Given the description of an element on the screen output the (x, y) to click on. 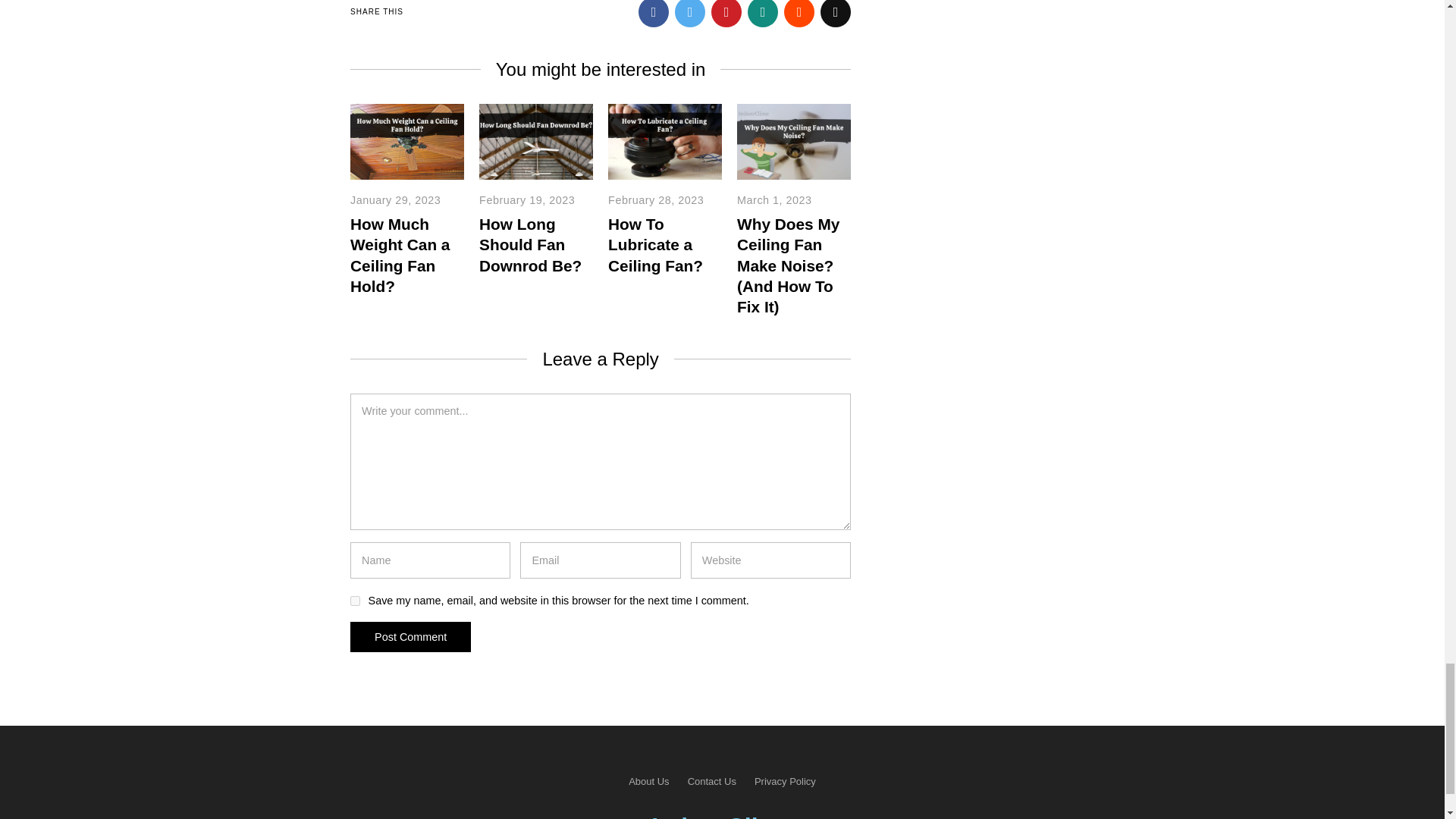
Post Comment (410, 636)
How Much Weight Can a Ceiling Fan Hold? (399, 254)
yes (354, 601)
